Given the description of an element on the screen output the (x, y) to click on. 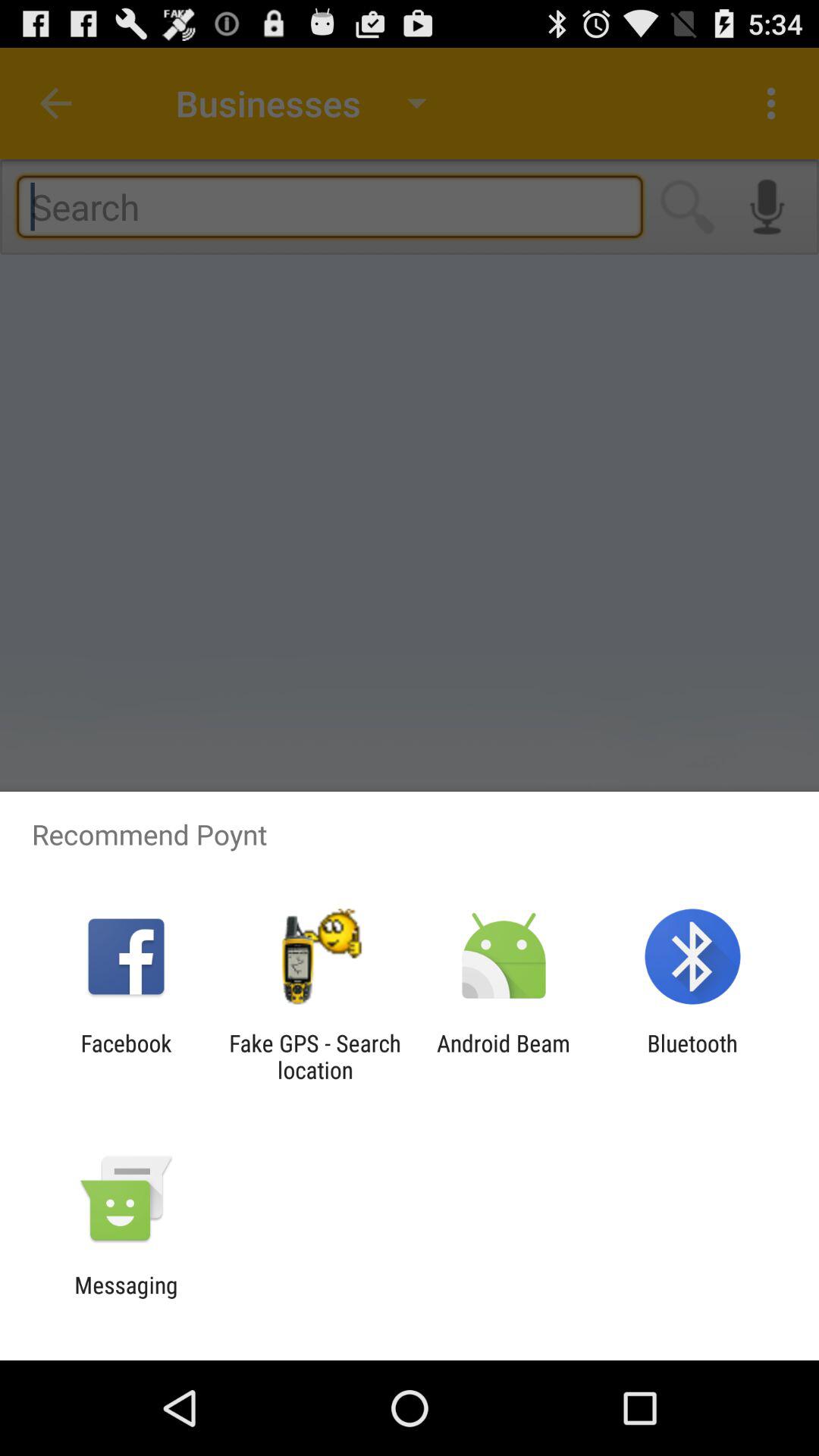
jump until the facebook item (125, 1056)
